Given the description of an element on the screen output the (x, y) to click on. 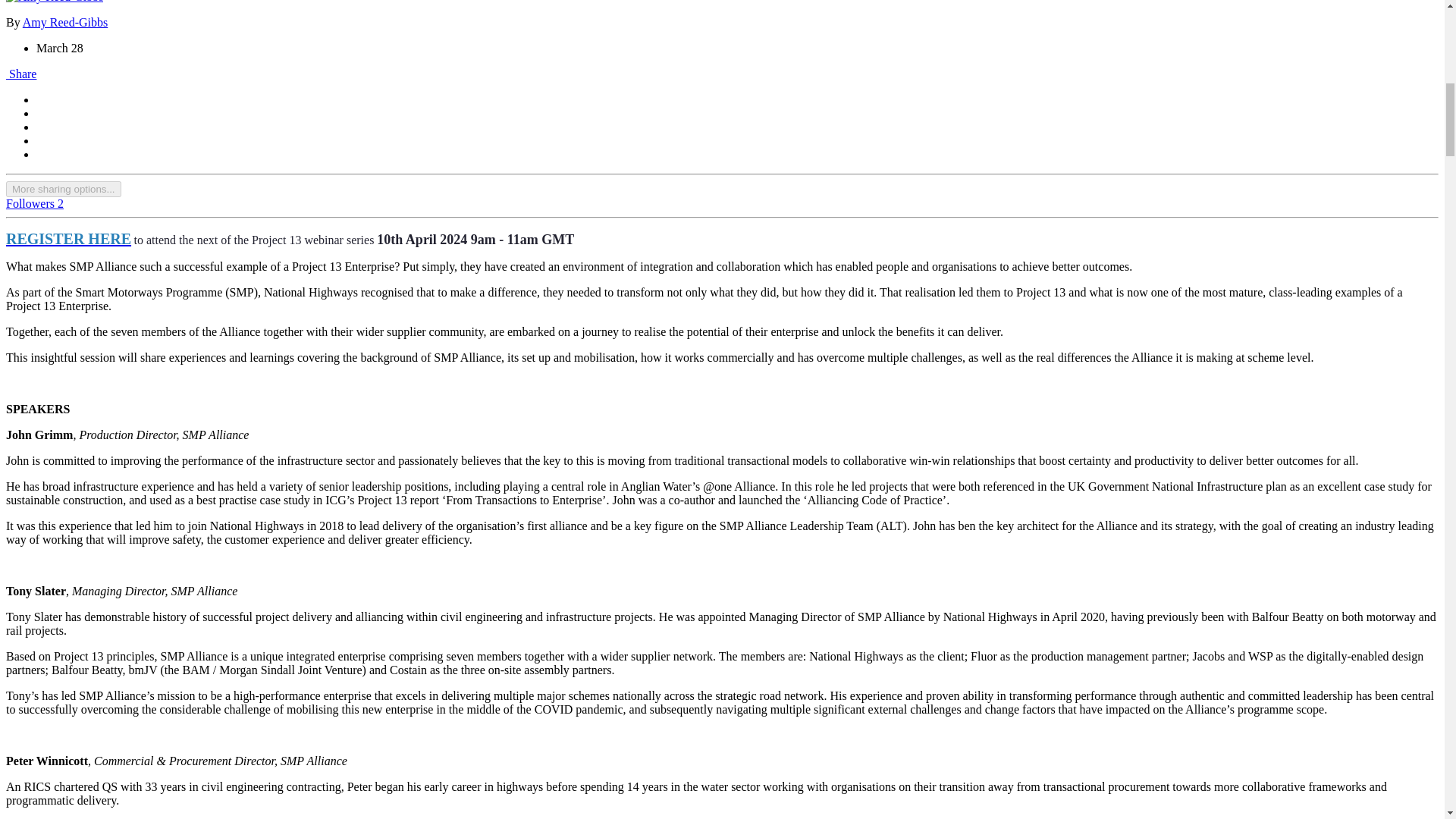
 Share (20, 73)
Go to Amy Reed-Gibbs's profile (65, 21)
Go to Amy Reed-Gibbs's profile (54, 1)
Sign in to follow this (34, 203)
Amy Reed-Gibbs (65, 21)
